Given the description of an element on the screen output the (x, y) to click on. 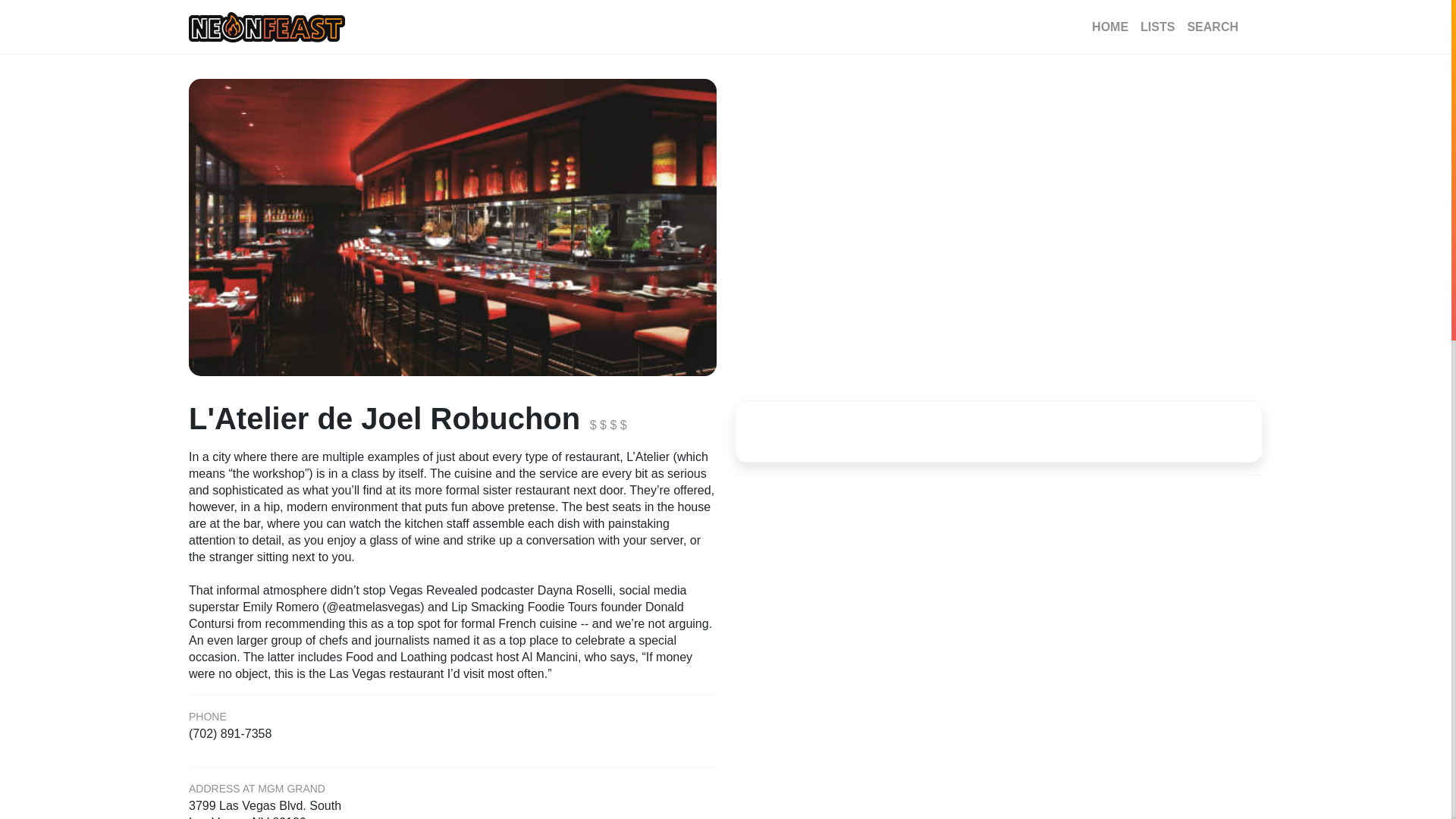
SEARCH (1212, 27)
HOME (1110, 27)
LISTS (452, 808)
